Given the description of an element on the screen output the (x, y) to click on. 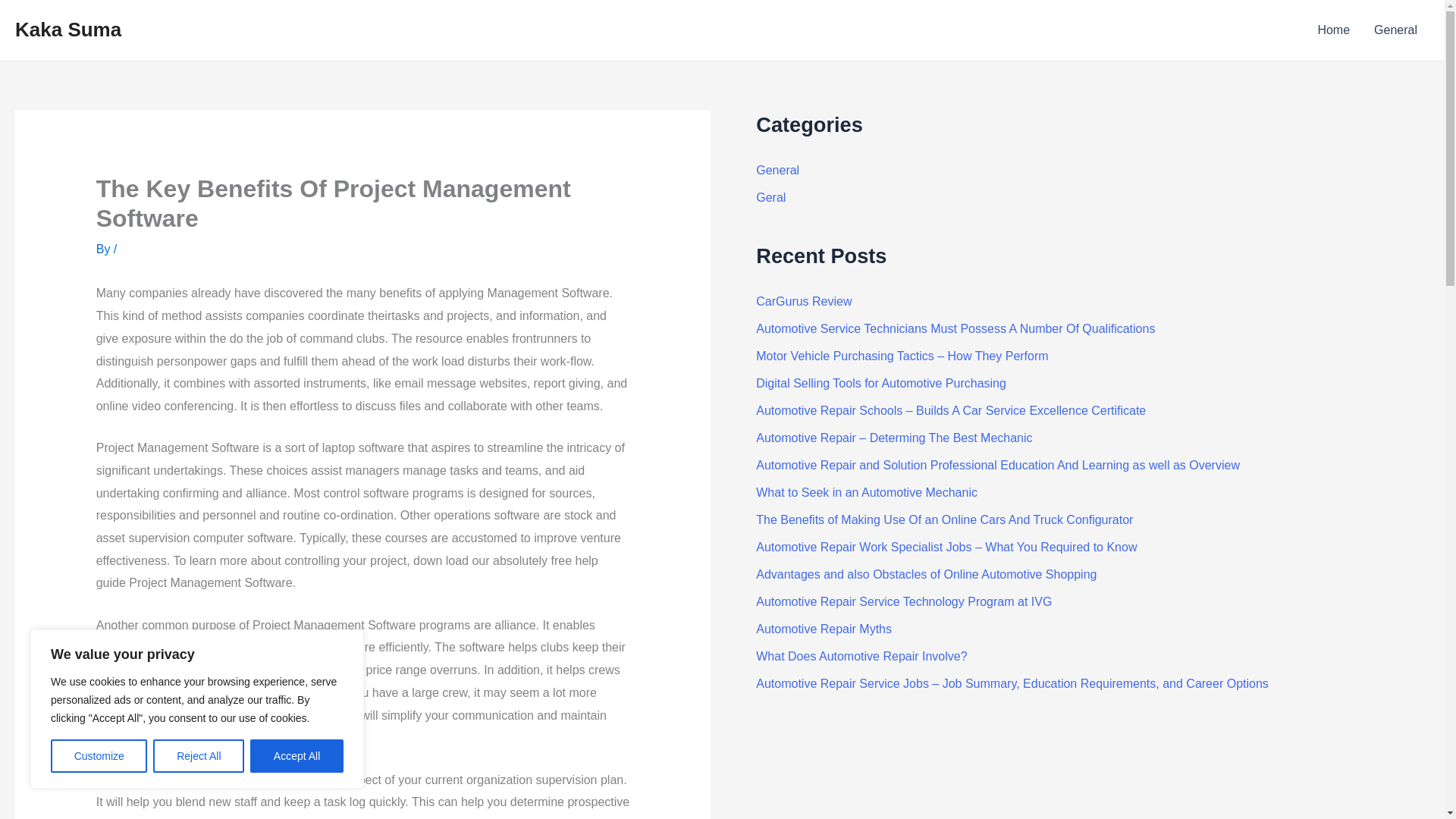
Reject All (198, 756)
Kaka Suma (67, 29)
Accept All (296, 756)
General (777, 169)
Customize (98, 756)
General (1395, 30)
Home (1332, 30)
Digital Selling Tools for Automotive Purchasing (880, 382)
CarGurus Review (803, 300)
Geral (770, 196)
